Given the description of an element on the screen output the (x, y) to click on. 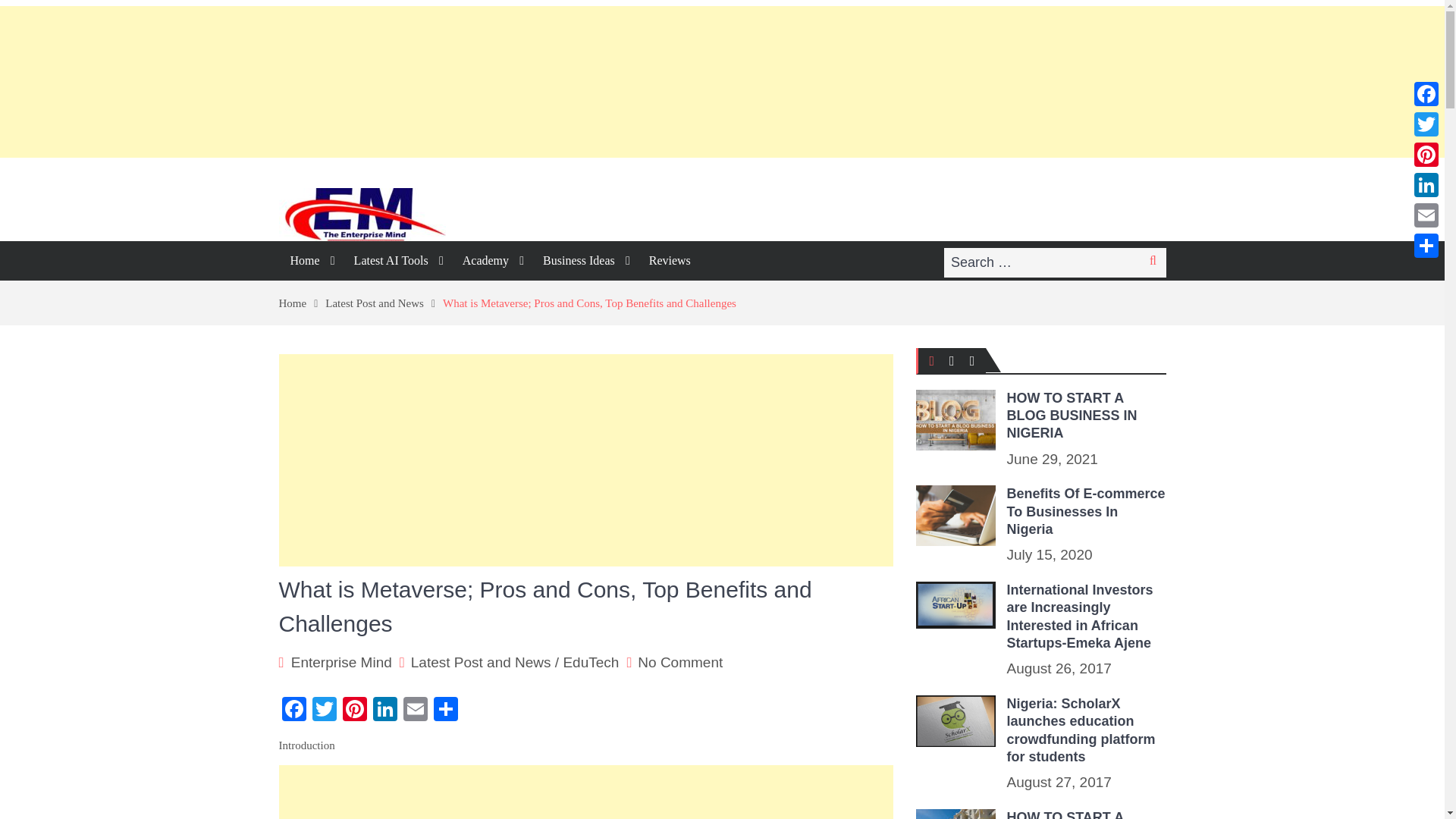
Search (1153, 260)
Facebook (293, 710)
Email (415, 710)
Pinterest (354, 710)
Email (415, 710)
Reviews (669, 260)
Latest Post and News (480, 661)
Academy (491, 260)
Home (310, 260)
Business Ideas (584, 260)
LinkedIn (384, 710)
Latest Post and News (383, 303)
Enterprise Mind (341, 661)
